Given the description of an element on the screen output the (x, y) to click on. 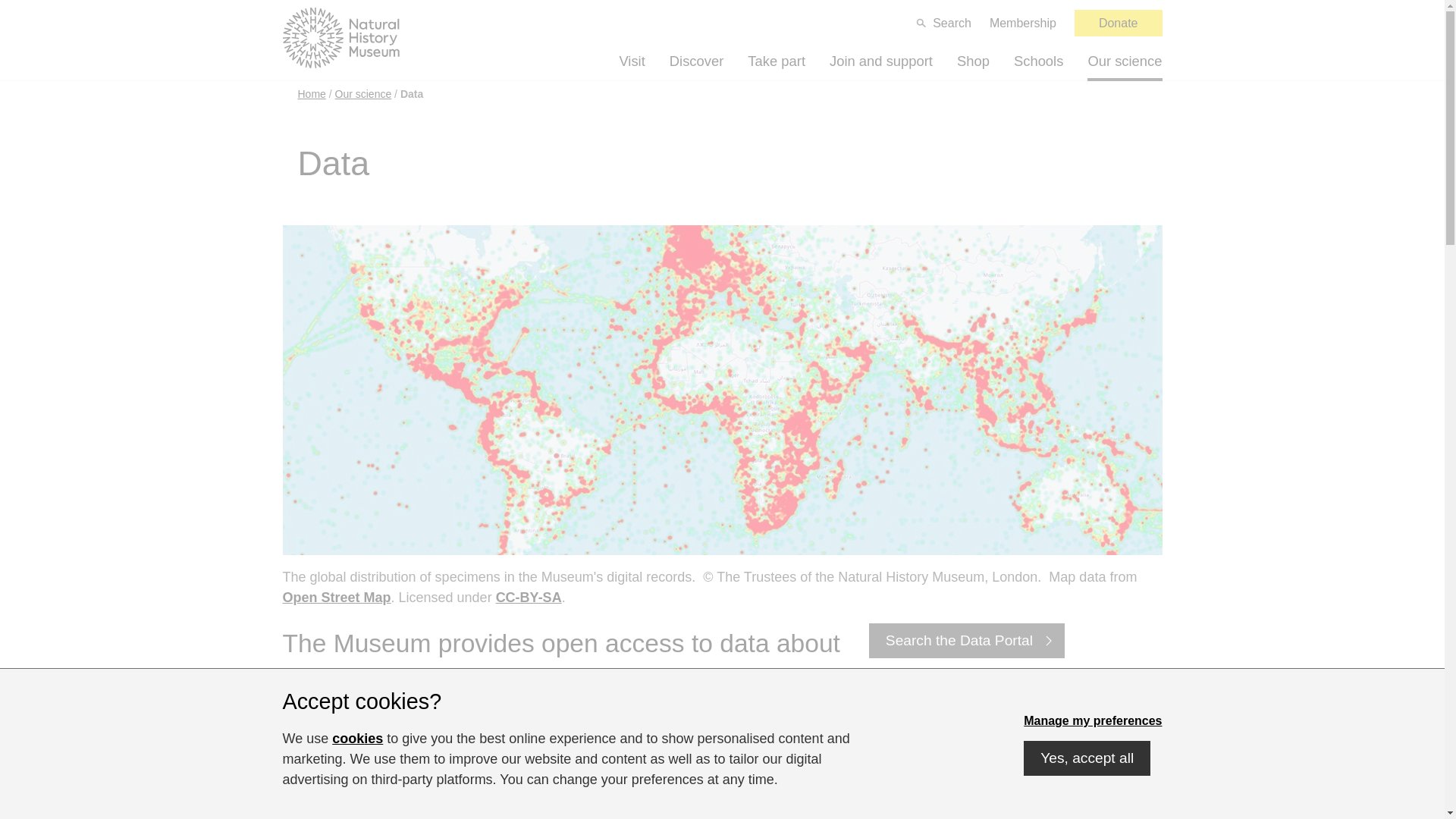
Yes, accept all (1086, 758)
Take part (776, 60)
Join and support (881, 60)
cookies (356, 738)
Accept All cookies (1086, 758)
Visit (631, 60)
Manage my preferences (1092, 720)
Discover (696, 60)
